Given the description of an element on the screen output the (x, y) to click on. 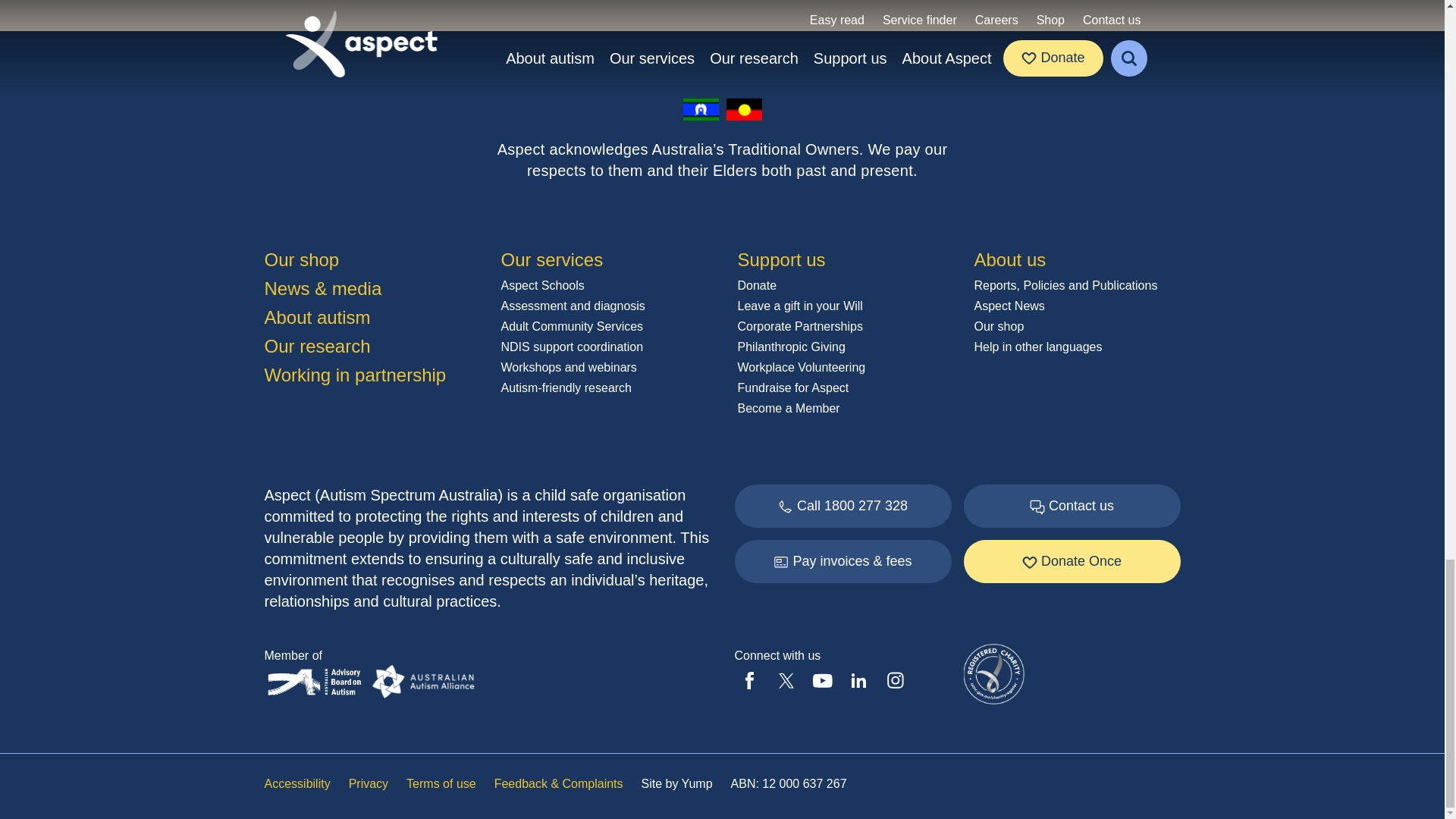
Pay invoices and fees (841, 561)
Australian Advisory Board for Autism (317, 680)
NDIS (1070, 505)
Australian Autism Alliance (422, 680)
Donate now (1070, 561)
